Given the description of an element on the screen output the (x, y) to click on. 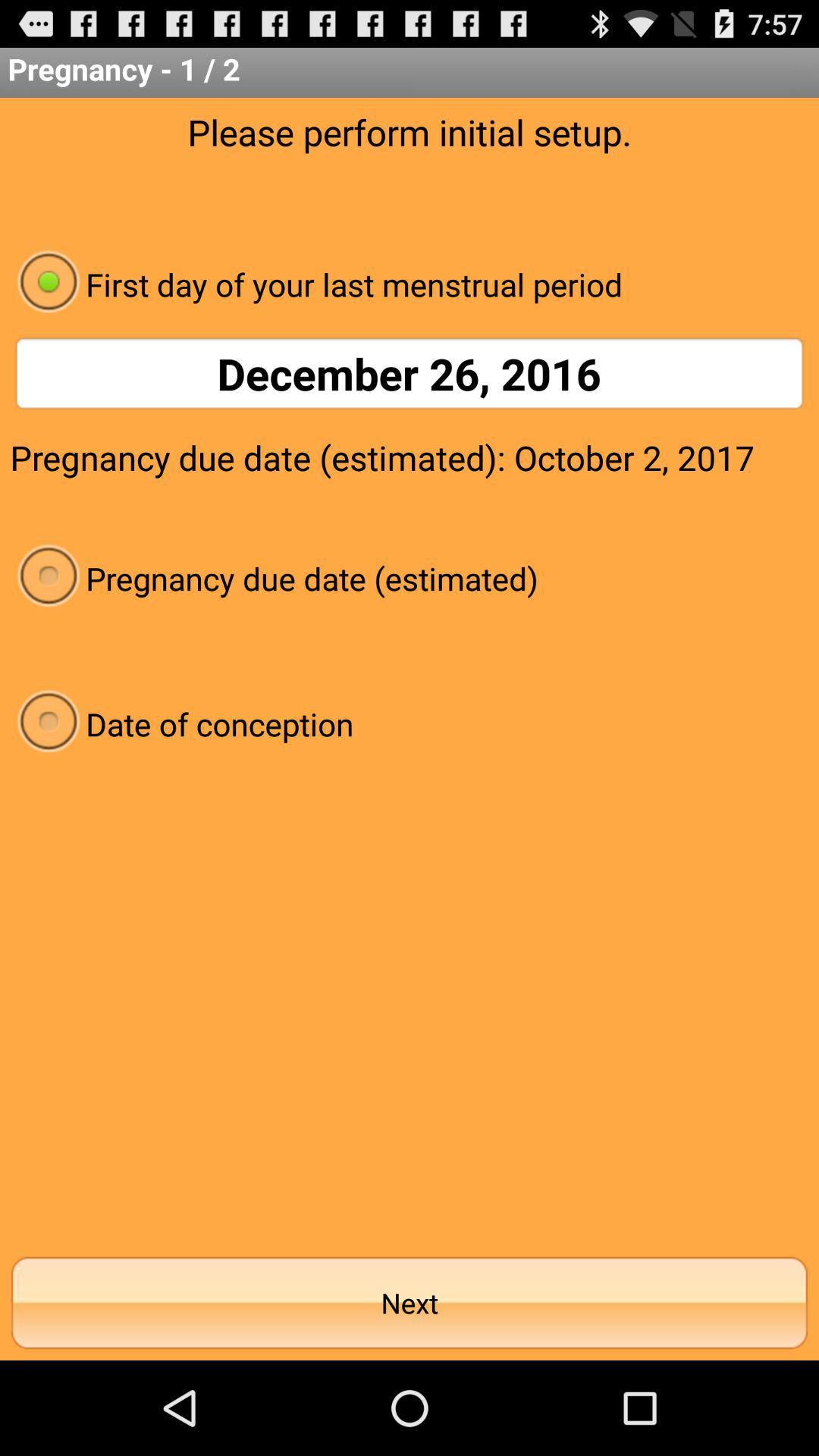
press app above the pregnancy due date app (409, 373)
